Given the description of an element on the screen output the (x, y) to click on. 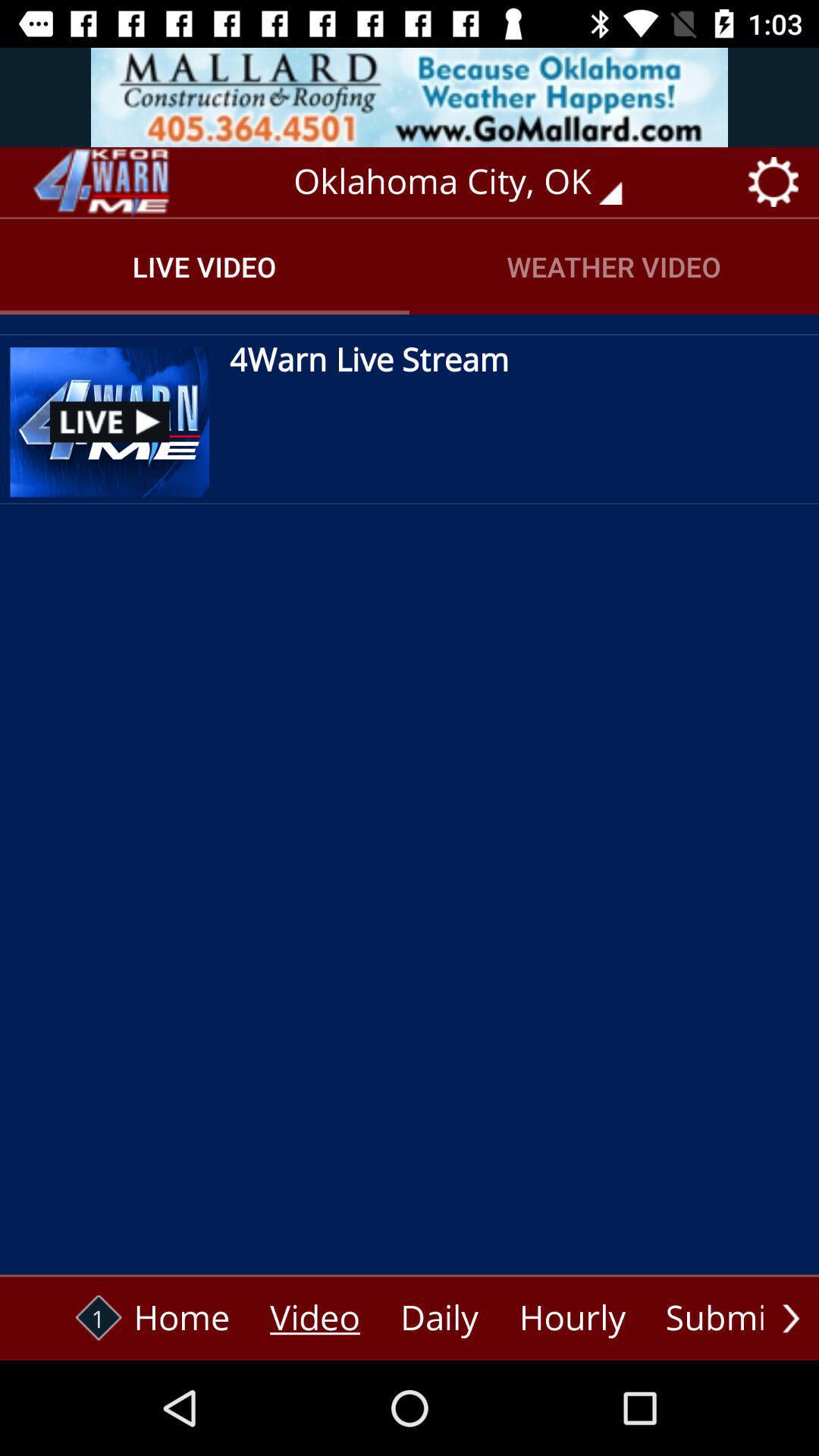
choose icon to the left of oklahoma city, ok icon (99, 182)
